Given the description of an element on the screen output the (x, y) to click on. 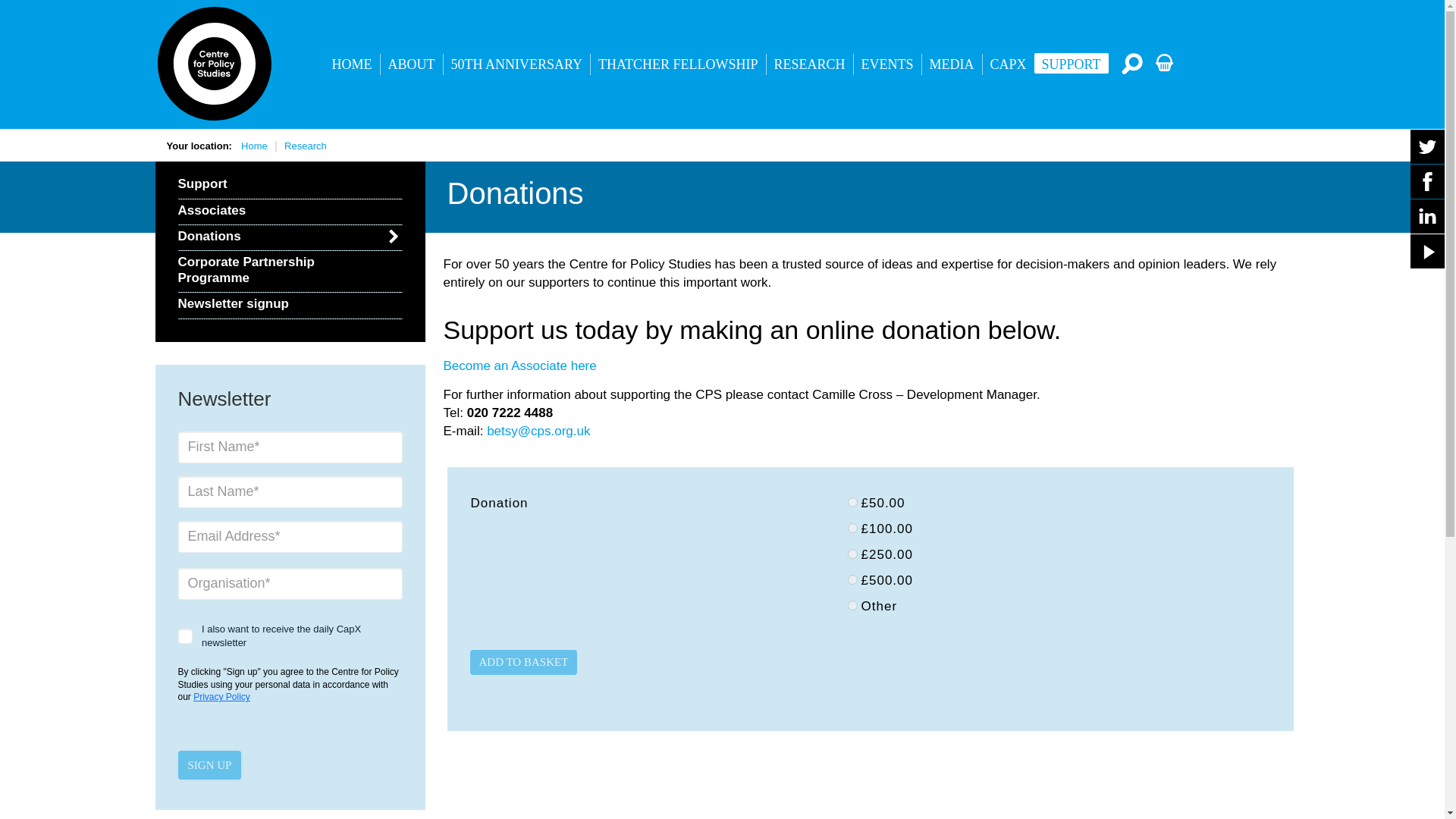
Other (852, 605)
Sign Up (209, 765)
EVENTS (887, 64)
Home (254, 145)
ABOUT (411, 64)
THATCHER FELLOWSHIP (678, 64)
RESEARCH (810, 64)
ADD TO BASKET (524, 662)
MEDIA (951, 64)
Corporate Partnership Programme (289, 271)
